Given the description of an element on the screen output the (x, y) to click on. 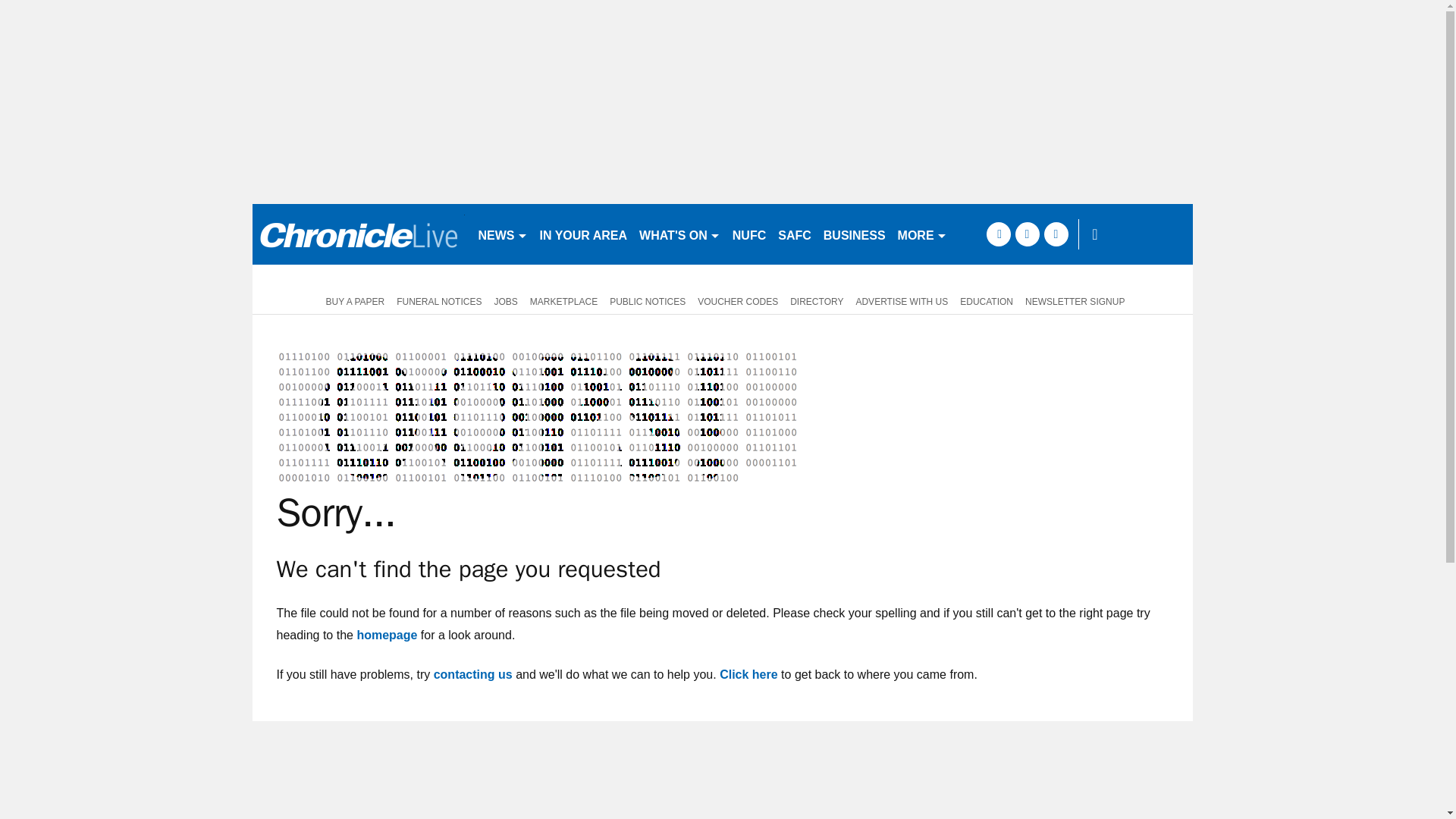
MORE (922, 233)
WHAT'S ON (679, 233)
instagram (1055, 233)
BUSINESS (853, 233)
NEWS (501, 233)
nechronicle (357, 233)
IN YOUR AREA (583, 233)
facebook (997, 233)
twitter (1026, 233)
